Given the description of an element on the screen output the (x, y) to click on. 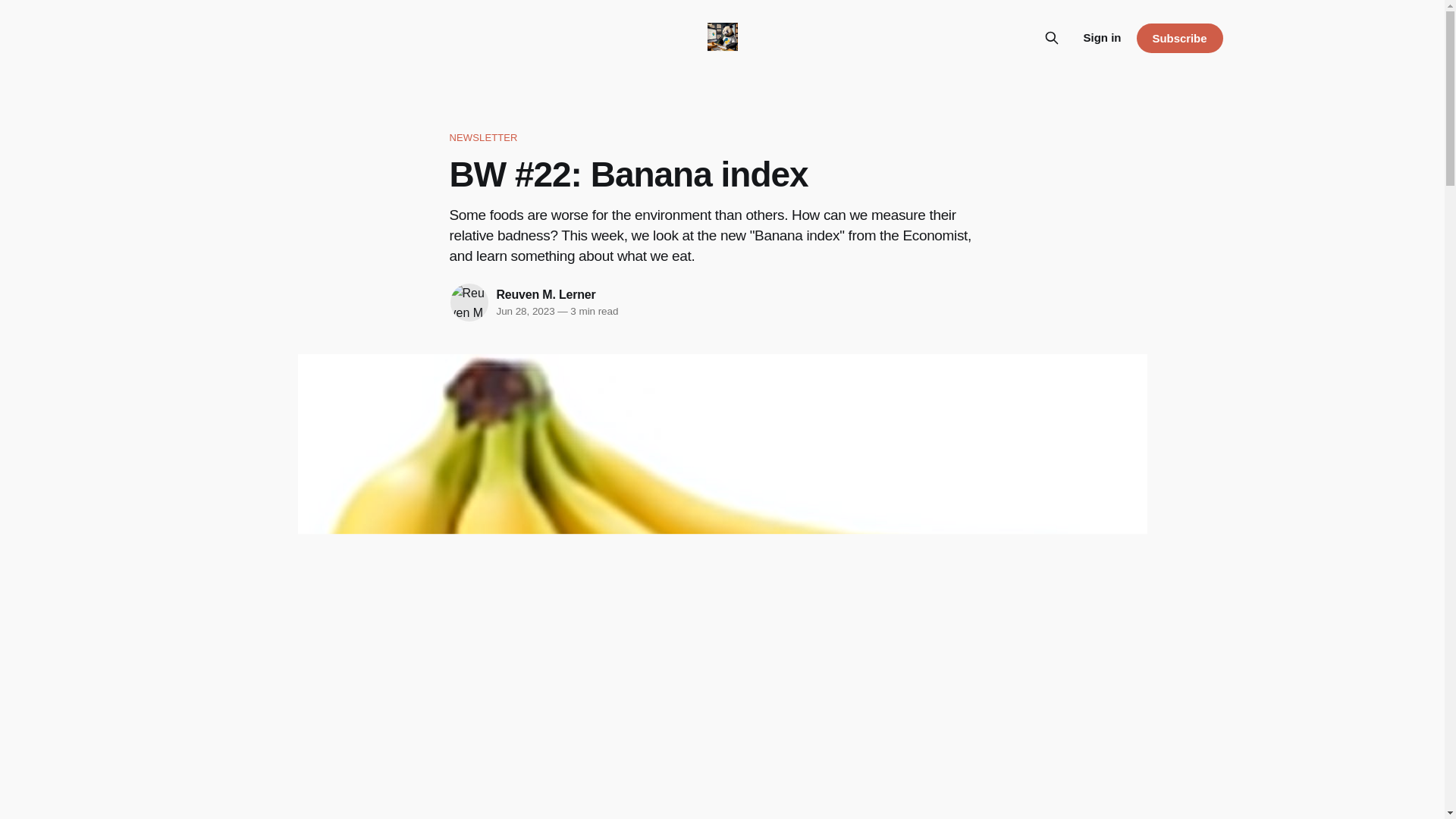
Subscribe (1179, 37)
NEWSLETTER (721, 138)
Reuven M. Lerner (545, 294)
Sign in (1102, 37)
